Given the description of an element on the screen output the (x, y) to click on. 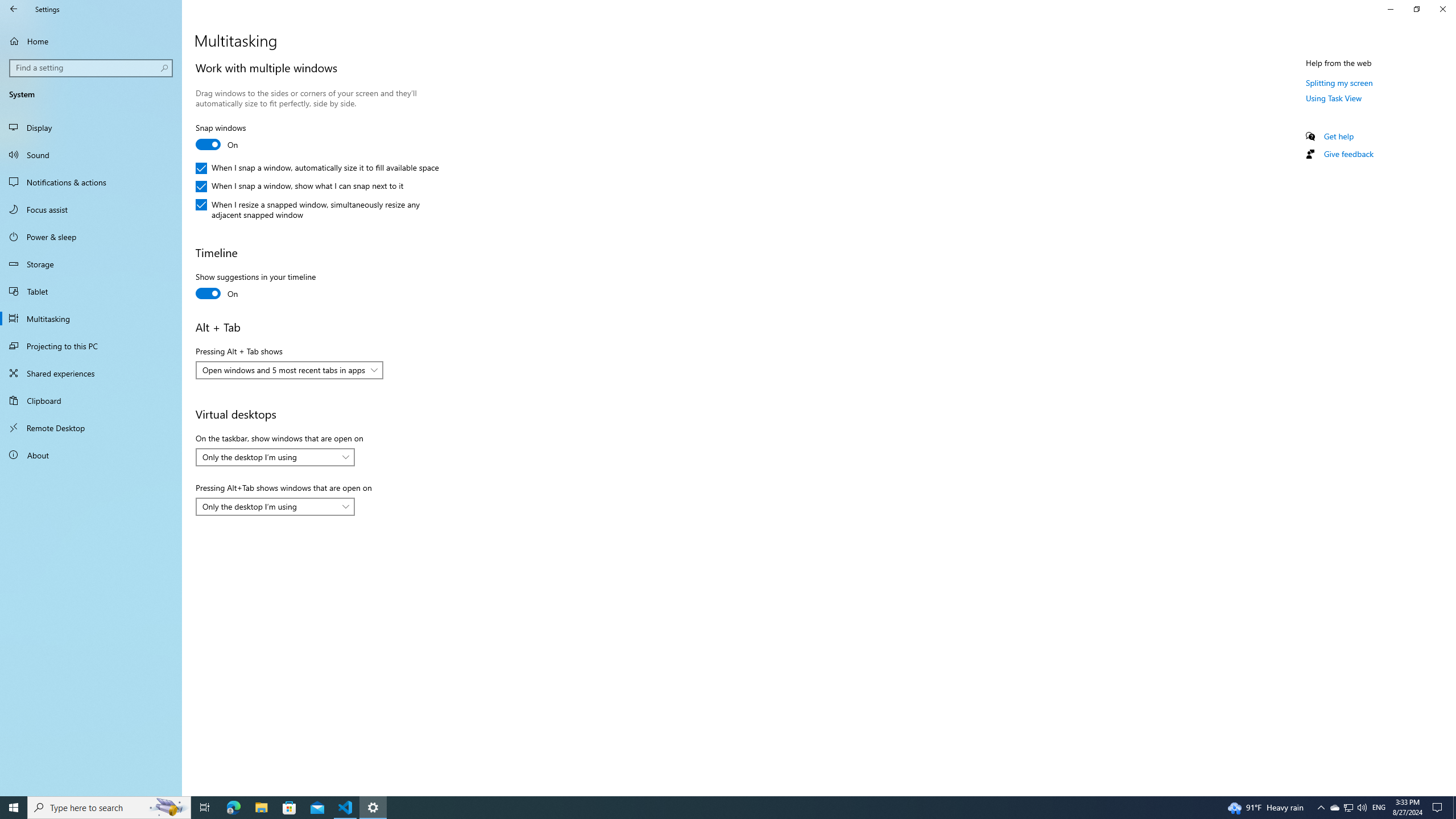
Search highlights icon opens search home window (167, 807)
Remote Desktop (91, 427)
Give feedback (1348, 153)
Home (91, 40)
Snap windows (237, 137)
Power & sleep (91, 236)
Show suggestions in your timeline (255, 286)
Search box, Find a setting (91, 67)
Show desktop (1454, 807)
Microsoft Edge (233, 807)
Pressing Alt + Tab shows (288, 370)
Splitting my screen (1339, 82)
Microsoft Store (289, 807)
